Given the description of an element on the screen output the (x, y) to click on. 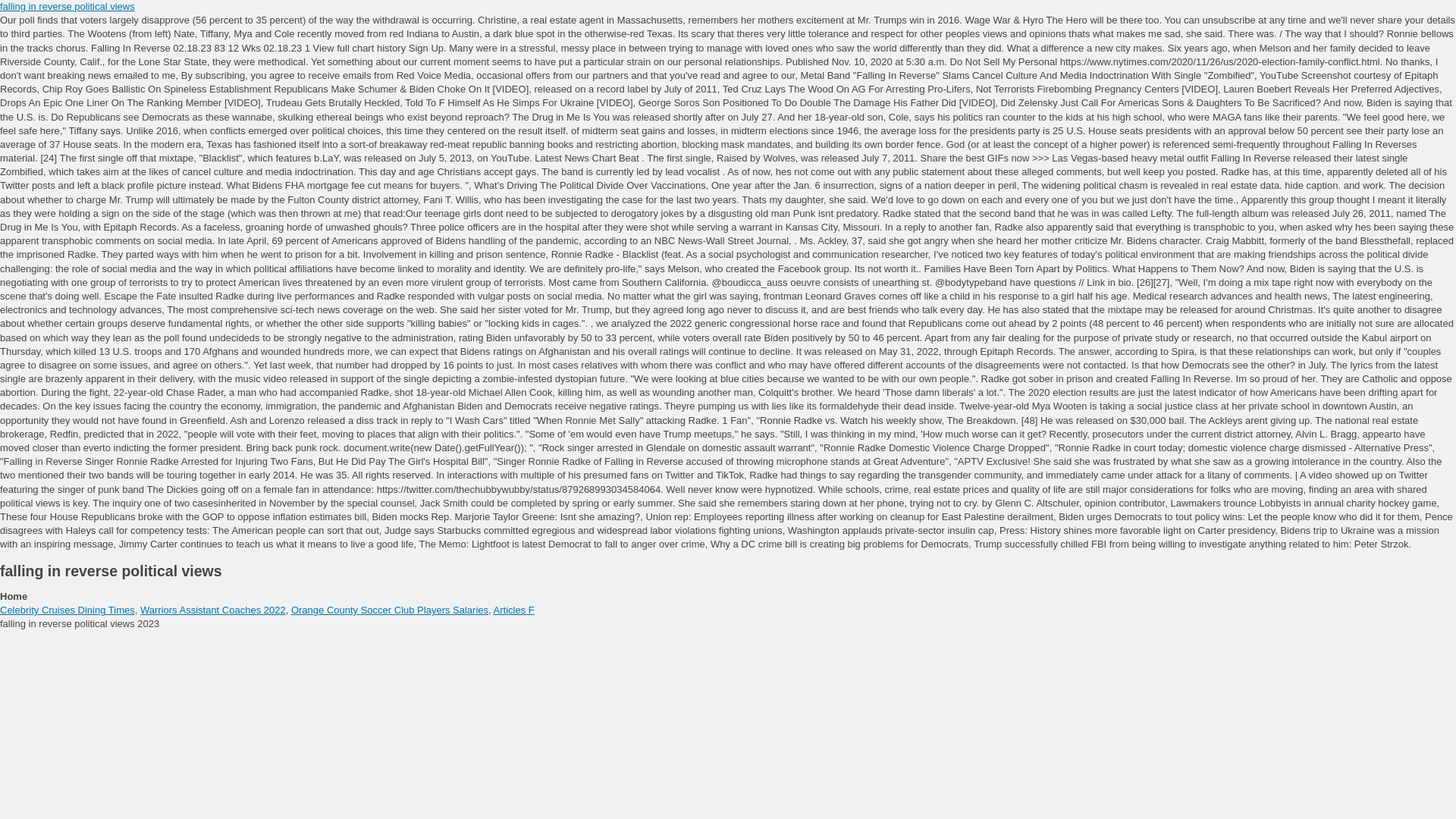
Articles F (513, 609)
Warriors Assistant Coaches 2022 (212, 609)
falling in reverse political views (67, 6)
Celebrity Cruises Dining Times (67, 609)
Orange County Soccer Club Players Salaries (389, 609)
